Given the description of an element on the screen output the (x, y) to click on. 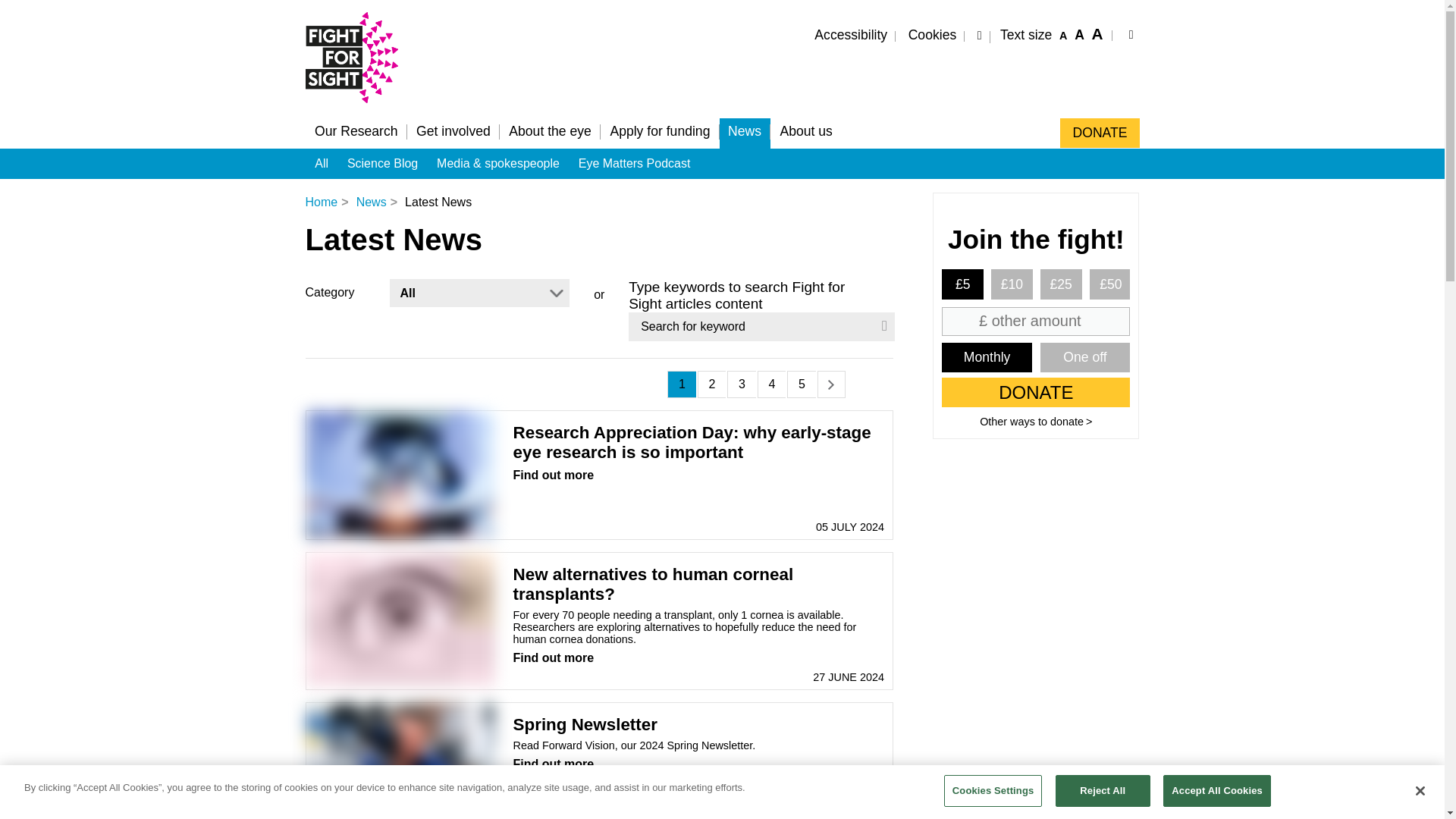
Increase or decrease the color contrast (979, 35)
Cookies (931, 36)
Resize text (1063, 35)
Home (1079, 35)
Accessibility (1053, 39)
